Given the description of an element on the screen output the (x, y) to click on. 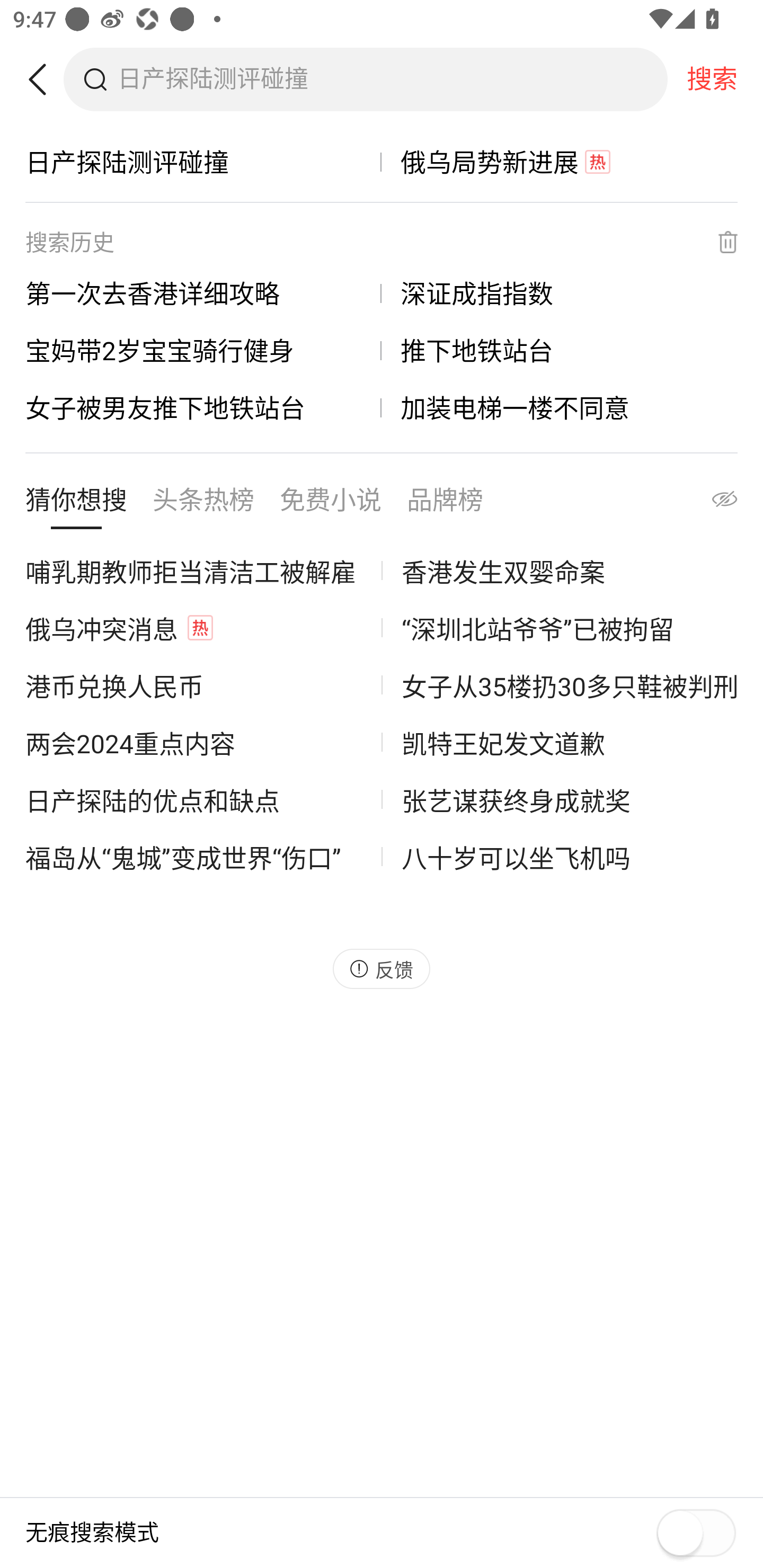
搜索框，日产探陆测评碰撞 (392, 79)
搜索 (711, 79)
返回 (44, 79)
日产探陆测评碰撞，链接, 日产探陆测评碰撞 (203, 162)
俄乌局势新进展，链接,热 俄乌局势新进展 (559, 162)
删除搜索历史 (716, 242)
第一次去香港详细攻略，链接, 第一次去香港详细攻略 (203, 292)
深证成指指数，链接, 深证成指指数 (559, 292)
宝妈带2岁宝宝骑行健身，链接, 宝妈带2岁宝宝骑行健身 (203, 350)
推下地铁站台，链接, 推下地铁站台 (559, 350)
女子被男友推下地铁站台，链接, 女子被男友推下地铁站台 (203, 407)
加装电梯一楼不同意，链接, 加装电梯一楼不同意 (559, 407)
猜你想搜 按钮 已选中 (76, 503)
头条热榜 按钮 (203, 503)
免费小说 按钮 (330, 503)
品牌榜 按钮 (444, 503)
隐藏全部推荐词内容 按钮 (706, 503)
反馈, 按钮 (381, 968)
